Given the description of an element on the screen output the (x, y) to click on. 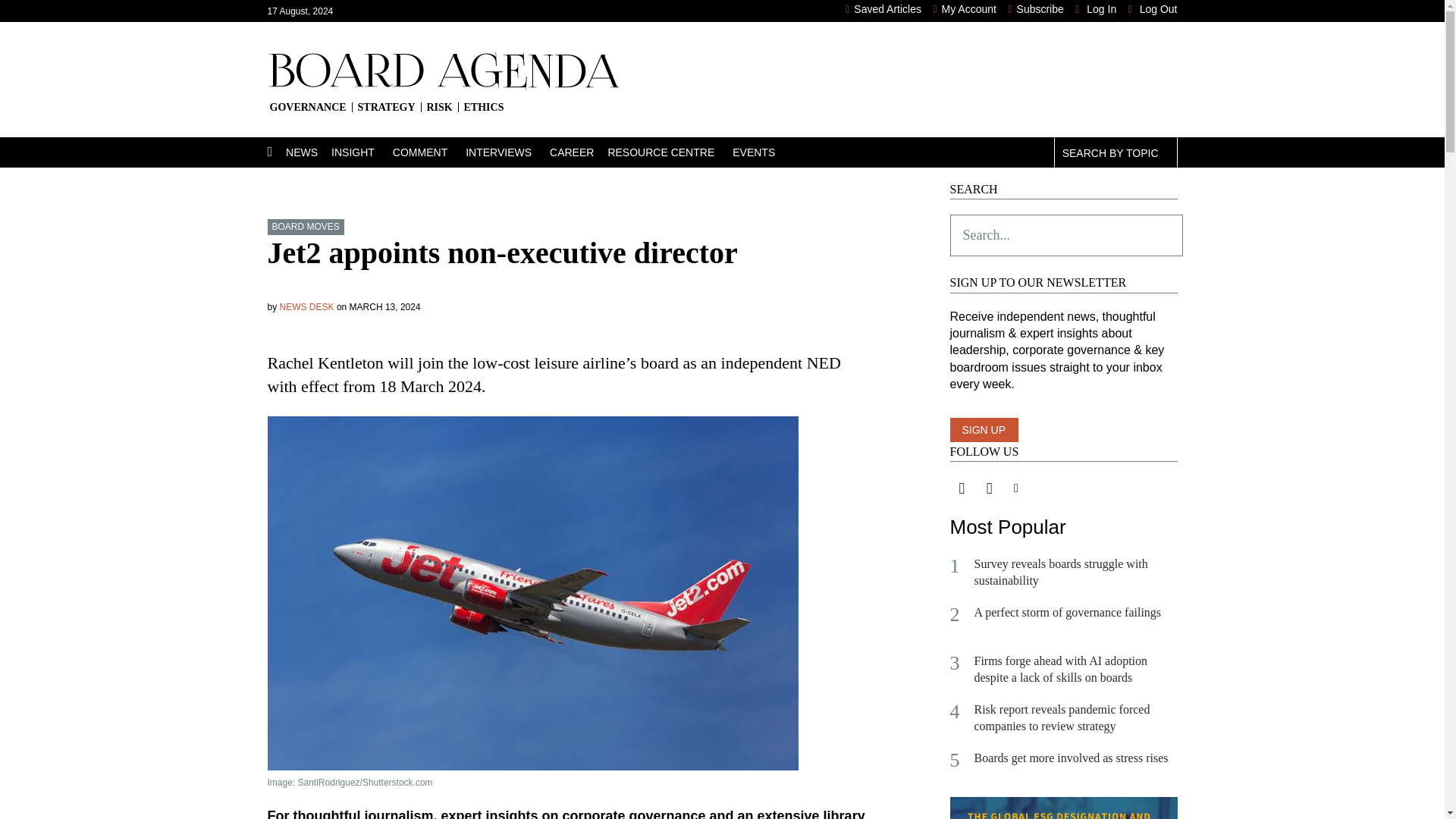
My Account (964, 9)
Saved Articles (883, 9)
INSIGHT (362, 152)
Posts by News Desk (306, 307)
NEWS (308, 152)
Log In (1095, 9)
INTERVIEWS (507, 152)
COMMENT (429, 152)
Log Out (1152, 9)
Jet2 appoints non-executive director (569, 773)
